Given the description of an element on the screen output the (x, y) to click on. 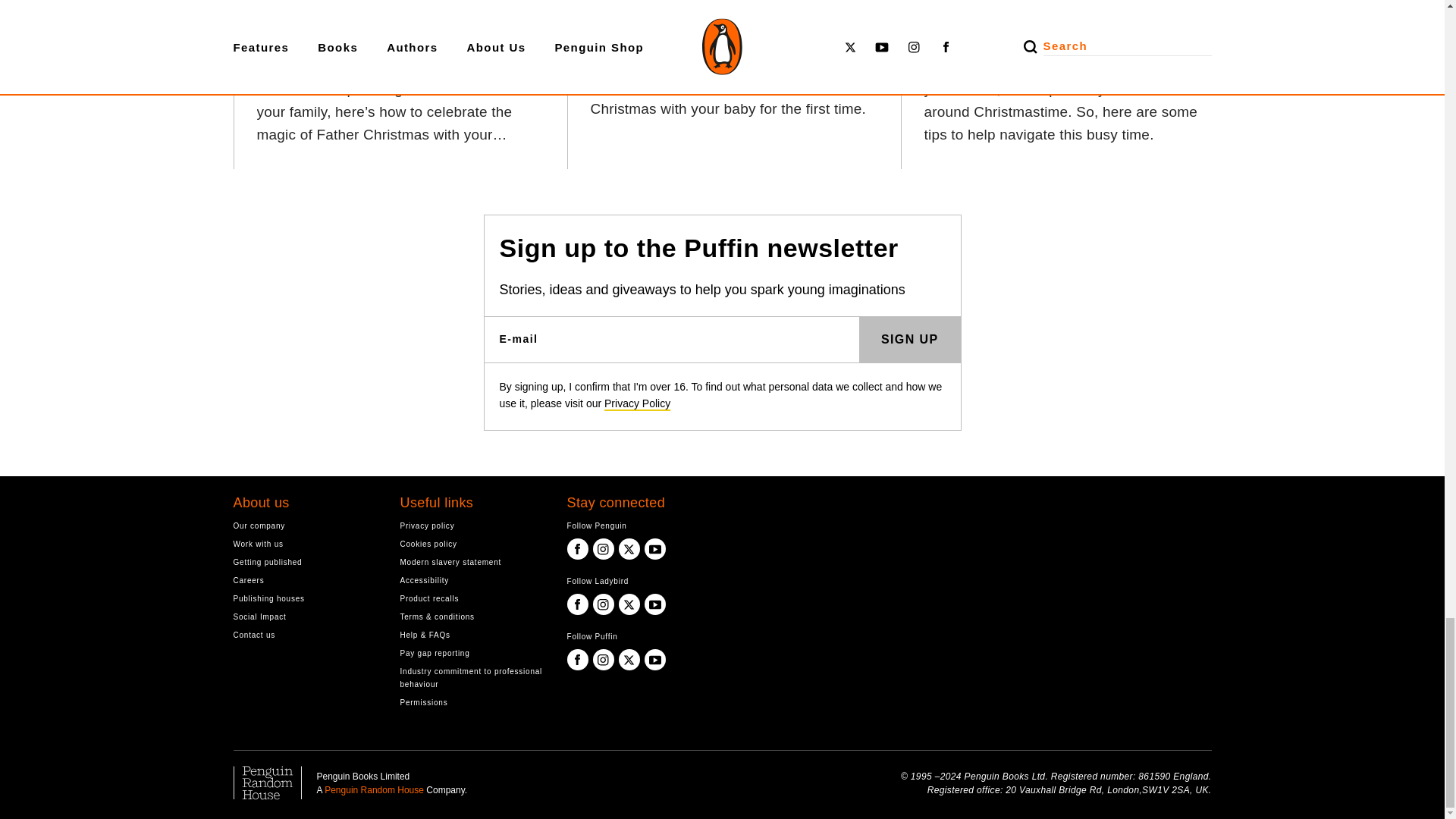
Careers (304, 580)
Accessibility (472, 580)
Modern slavery statement (472, 562)
Social Impact (304, 616)
Privacy policy (472, 525)
Work with us (304, 543)
Product recalls (472, 598)
Publishing houses (304, 598)
Cookies policy (472, 543)
Privacy Policy (636, 403)
Getting published (304, 562)
SIGN UP (909, 339)
Contact us (304, 634)
Our company (304, 525)
